Given the description of an element on the screen output the (x, y) to click on. 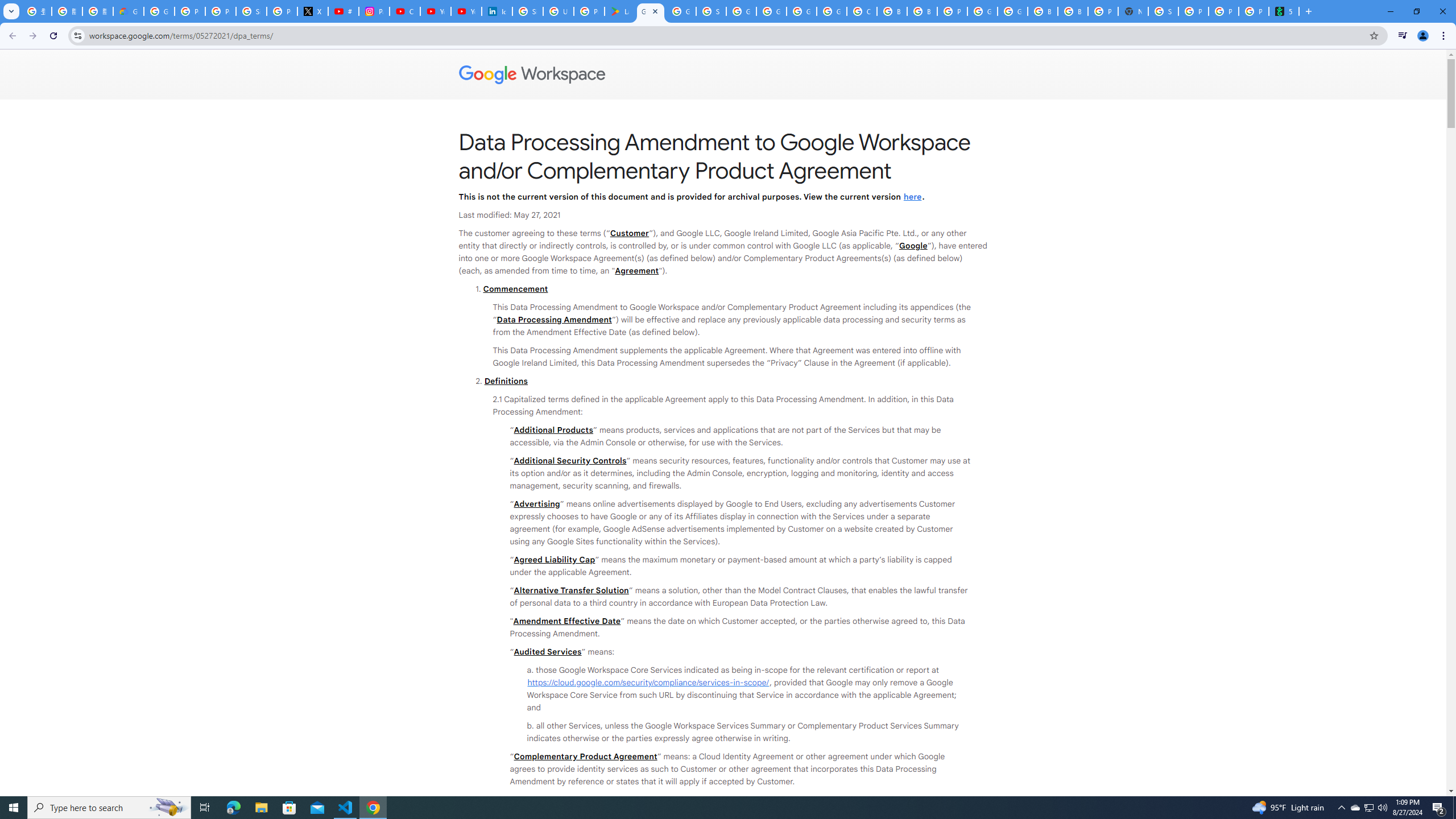
Google Cloud Platform (1012, 11)
Browse Chrome as a guest - Computer - Google Chrome Help (1042, 11)
Restore (1416, 11)
Search tabs (10, 11)
Minimize (1390, 11)
Last Shelter: Survival - Apps on Google Play (619, 11)
Google Workspace (723, 74)
System (6, 6)
Browse Chrome as a guest - Computer - Google Chrome Help (922, 11)
